Given the description of an element on the screen output the (x, y) to click on. 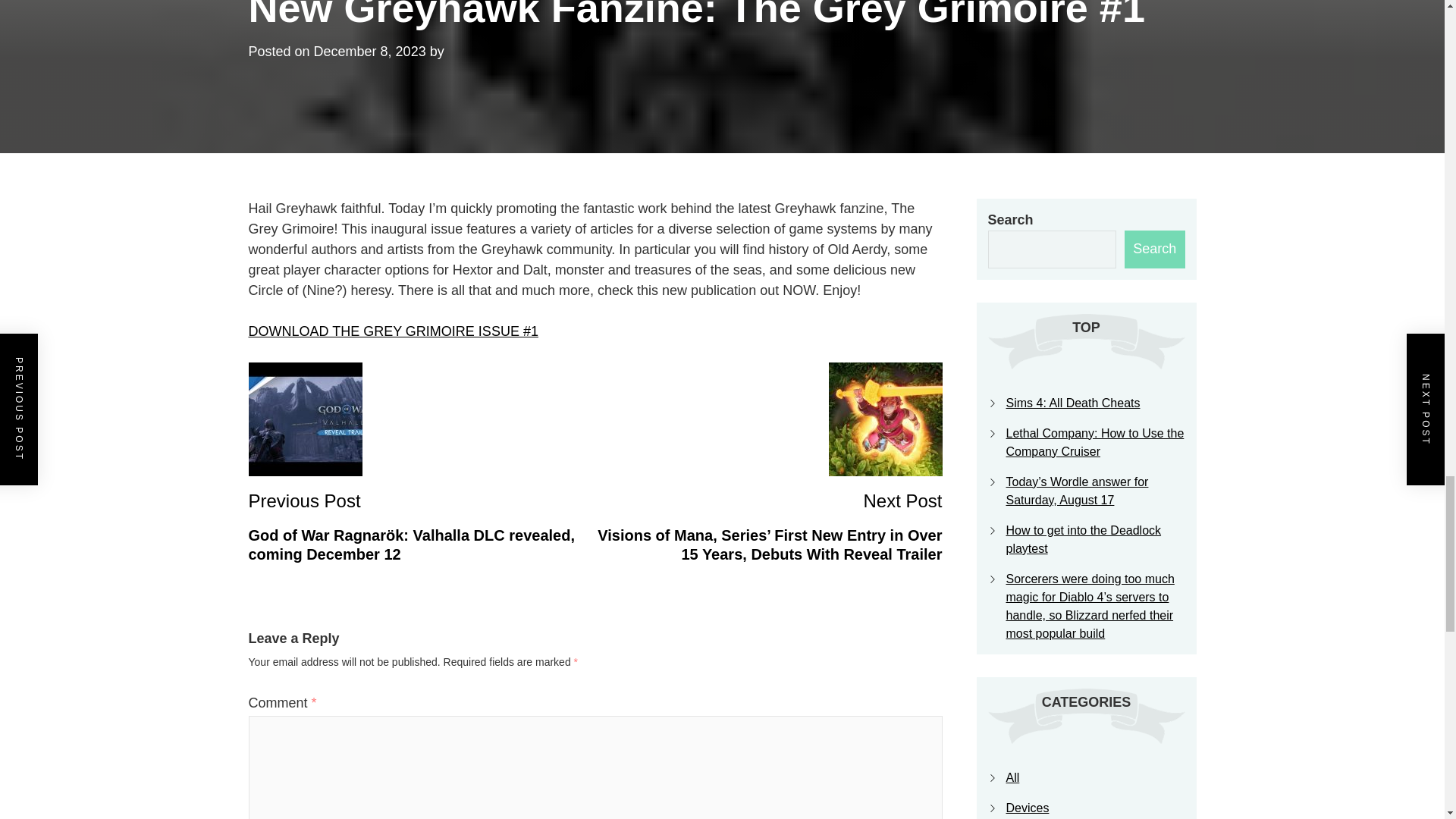
Lethal Company: How to Use the Company Cruiser (1094, 441)
How to get into the Deadlock playtest (1083, 539)
Sims 4: All Death Cheats (1073, 402)
December 8, 2023 (370, 51)
Search (1154, 249)
Devices (1027, 807)
All (1012, 777)
